Given the description of an element on the screen output the (x, y) to click on. 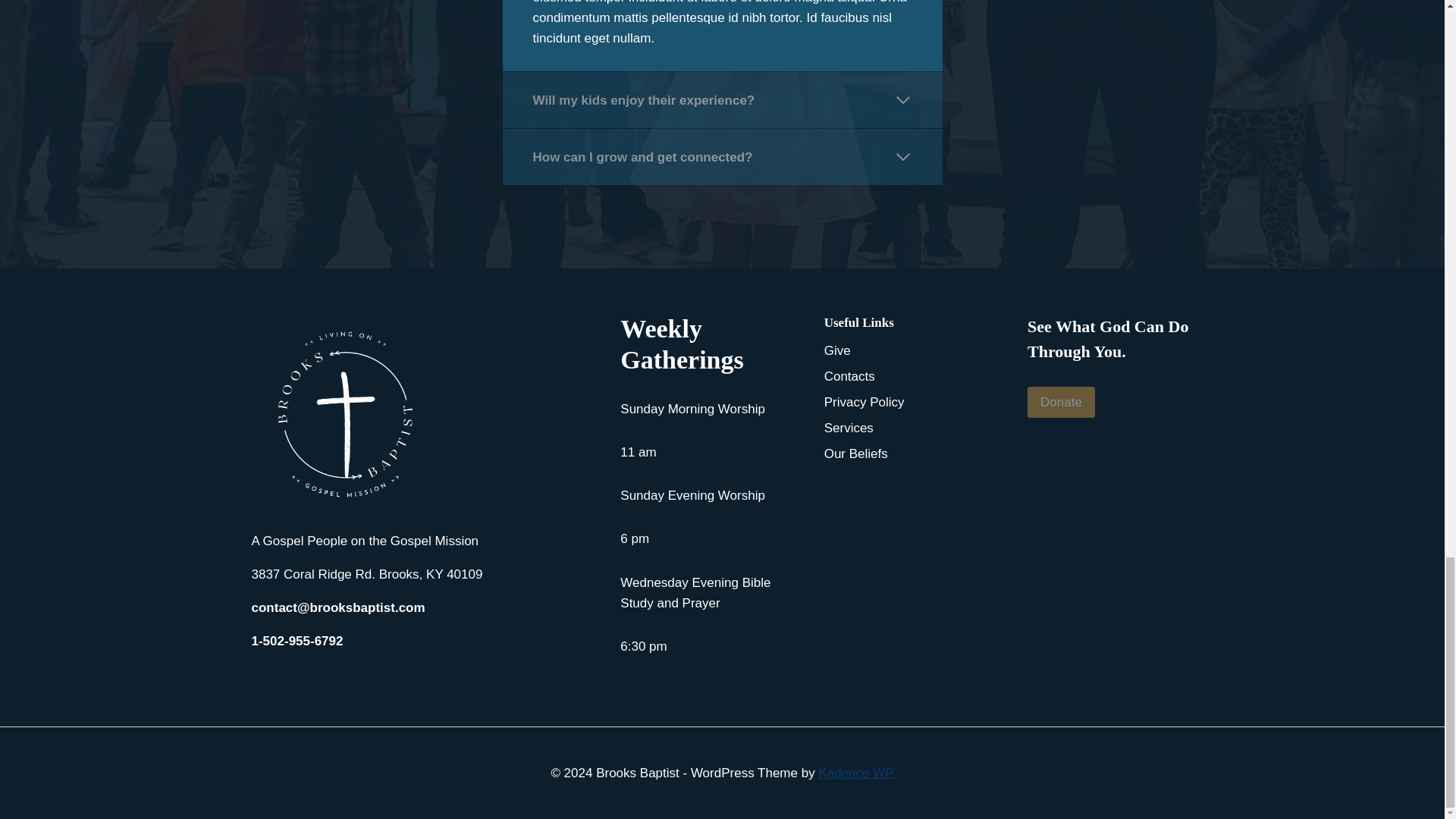
Privacy Policy (907, 402)
Our Beliefs (907, 453)
Give (907, 350)
Contacts (907, 376)
Services (907, 428)
Donate (1060, 401)
How can I grow and get connected? (722, 156)
Will my kids enjoy their experience? (722, 99)
Kadence WP (855, 772)
